Given the description of an element on the screen output the (x, y) to click on. 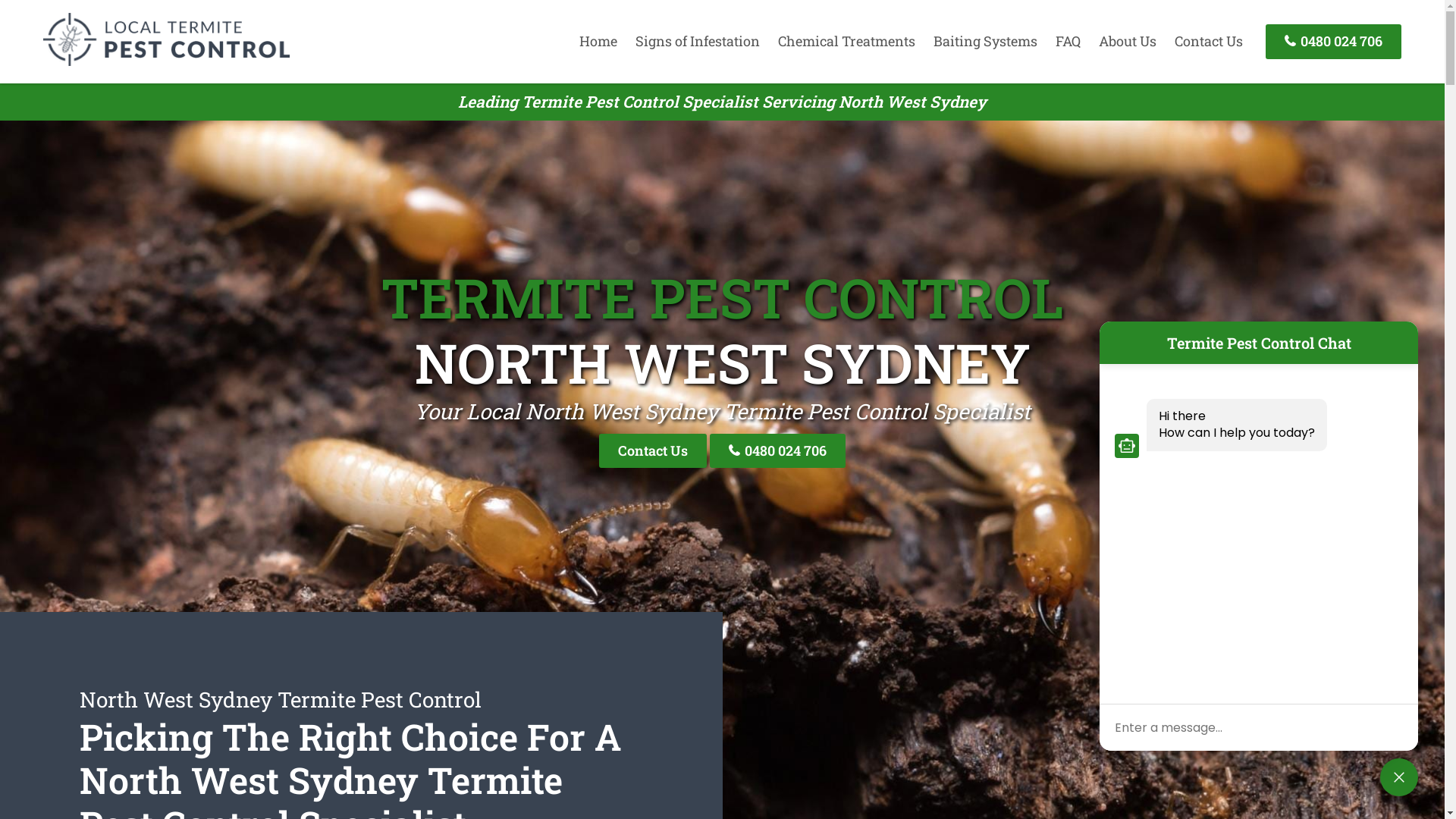
About Us Element type: text (1127, 40)
Contact Us Element type: text (1208, 40)
close Element type: text (1399, 777)
Termite Pest Control Element type: hover (166, 60)
0480 024 706 Element type: text (777, 450)
Baiting Systems Element type: text (984, 40)
Home Element type: text (597, 40)
Signs of Infestation Element type: text (697, 40)
FAQ Element type: text (1068, 40)
0480 024 706 Element type: text (1333, 41)
Chemical Treatments Element type: text (846, 40)
Contact Us Element type: text (652, 450)
